Given the description of an element on the screen output the (x, y) to click on. 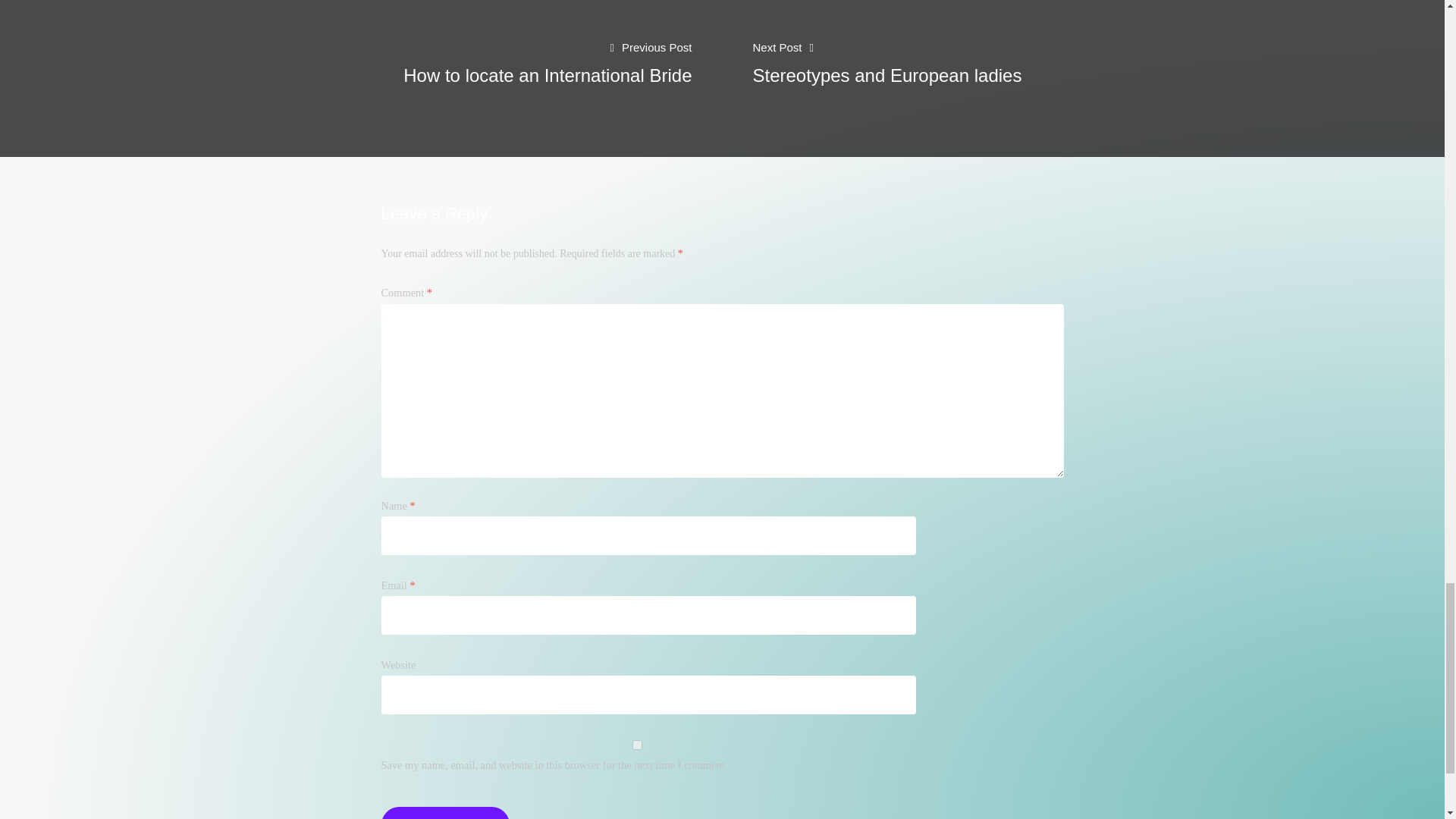
yes (361, 78)
Post Comment (636, 745)
Post Comment (444, 812)
